Given the description of an element on the screen output the (x, y) to click on. 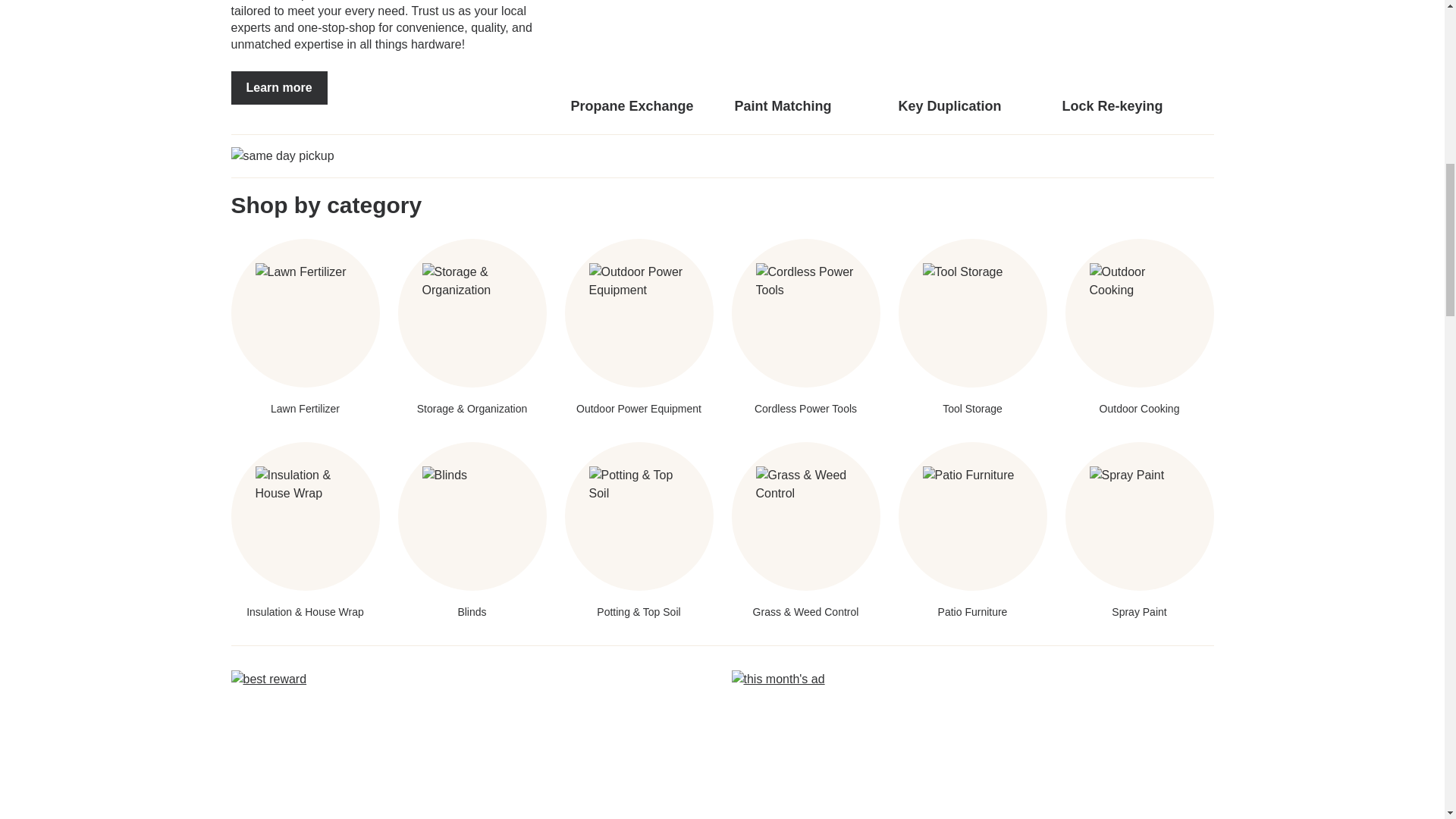
Lock Re-keying (1136, 58)
Key Duplication (973, 58)
Learn more (278, 87)
Propane Exchange (646, 58)
Paint Matching (809, 58)
